Given the description of an element on the screen output the (x, y) to click on. 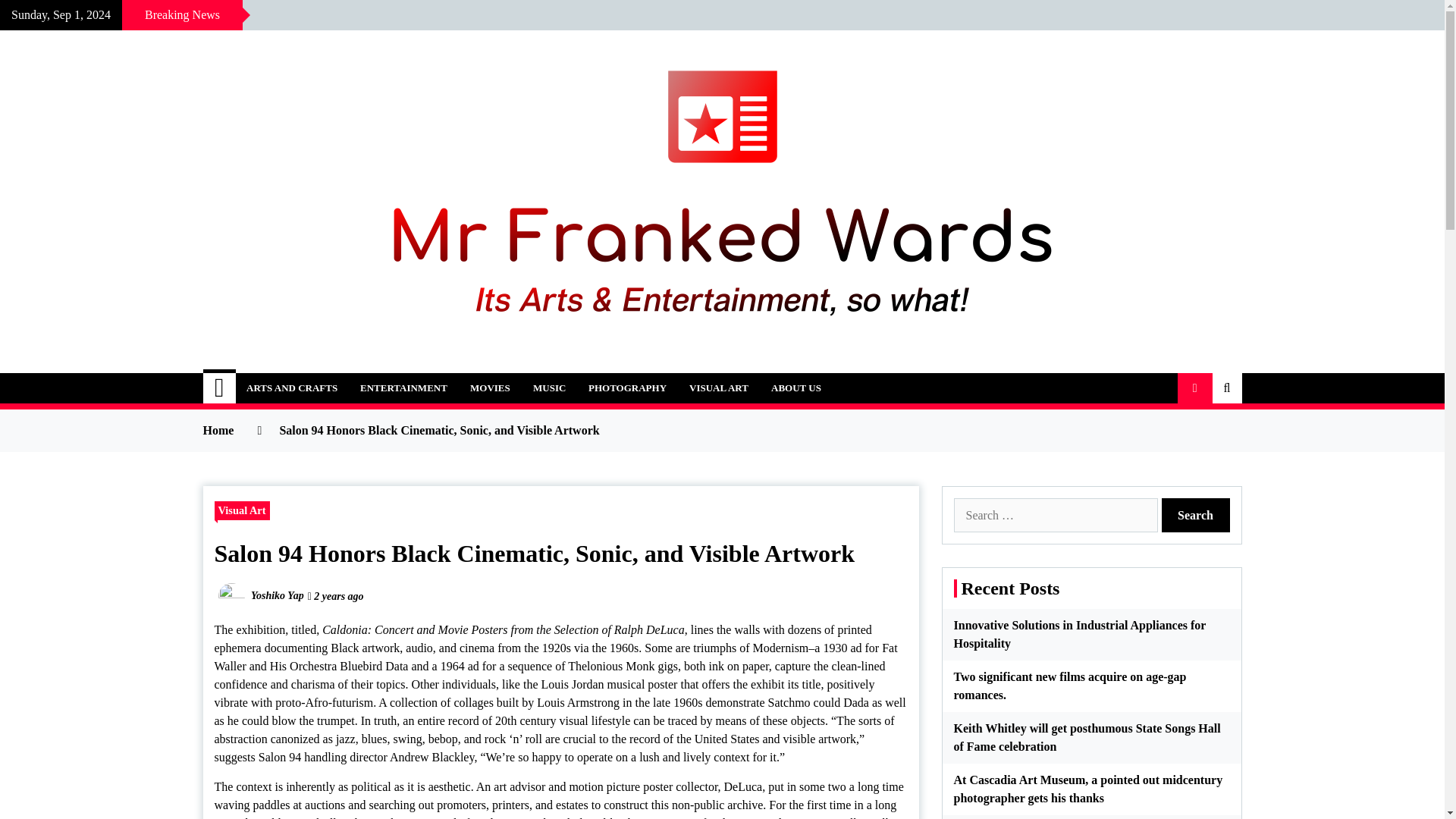
ARTS AND CRAFTS (291, 388)
Home (219, 388)
MOVIES (489, 388)
Search (1195, 514)
MUSIC (548, 388)
ABOUT US (796, 388)
Search (1195, 514)
ENTERTAINMENT (403, 388)
Mr Franked Wards (340, 379)
PHOTOGRAPHY (627, 388)
